Given the description of an element on the screen output the (x, y) to click on. 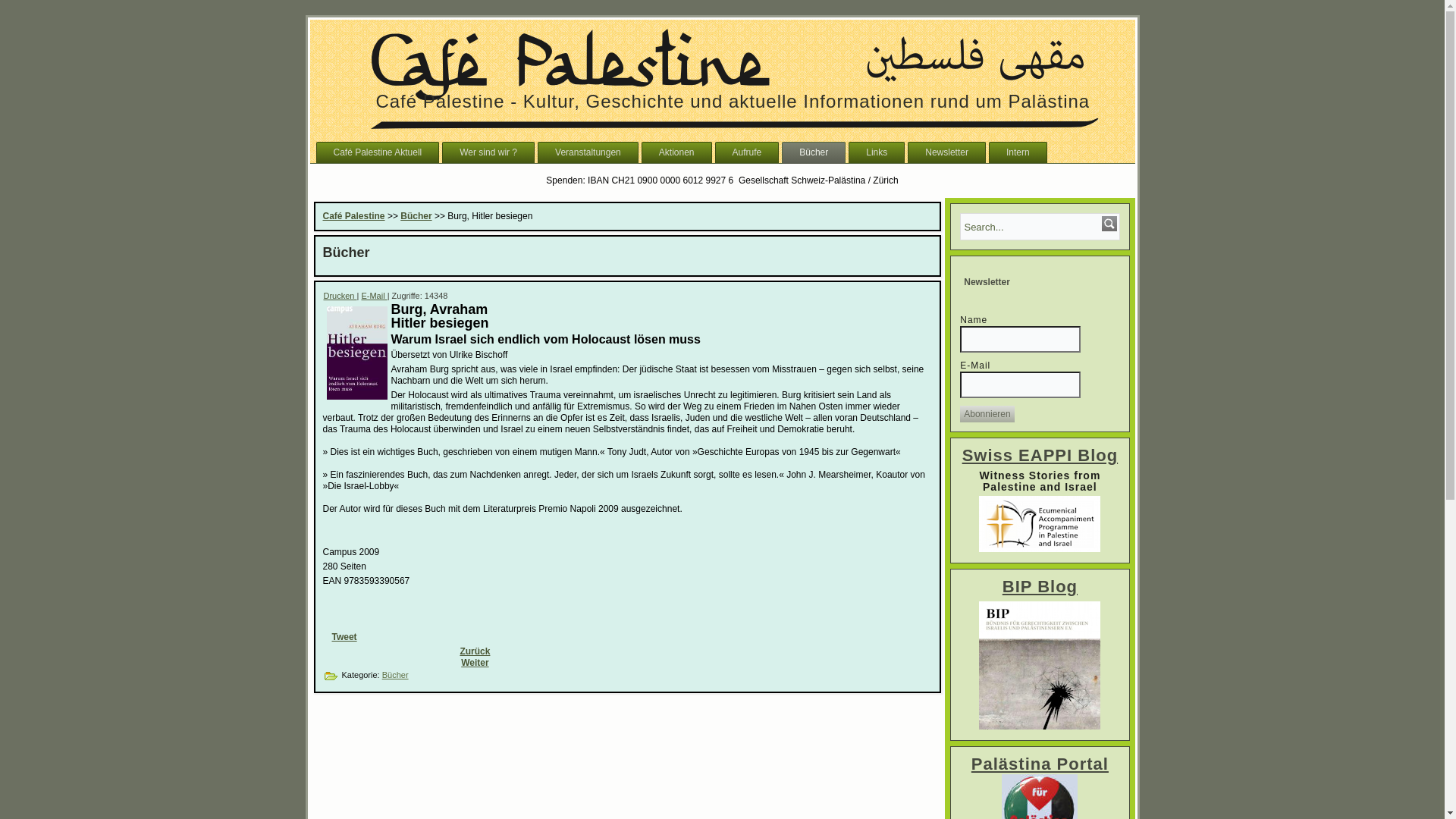
Drucken Element type: text (339, 295)
BIP Blog Element type: text (1039, 586)
Intern Element type: text (1017, 152)
Swiss EAPPI Blog Element type: text (1040, 454)
Aufrufe Element type: text (746, 152)
Tweet Element type: text (344, 635)
E-Mail Element type: text (373, 295)
Veranstaltungen Element type: text (587, 152)
Weiter Element type: text (474, 661)
Wer sind wir ? Element type: text (488, 152)
Abonnieren Element type: text (986, 413)
Links Element type: text (876, 152)
Newsletter Element type: text (946, 152)
Aktionen Element type: text (676, 152)
